Given the description of an element on the screen output the (x, y) to click on. 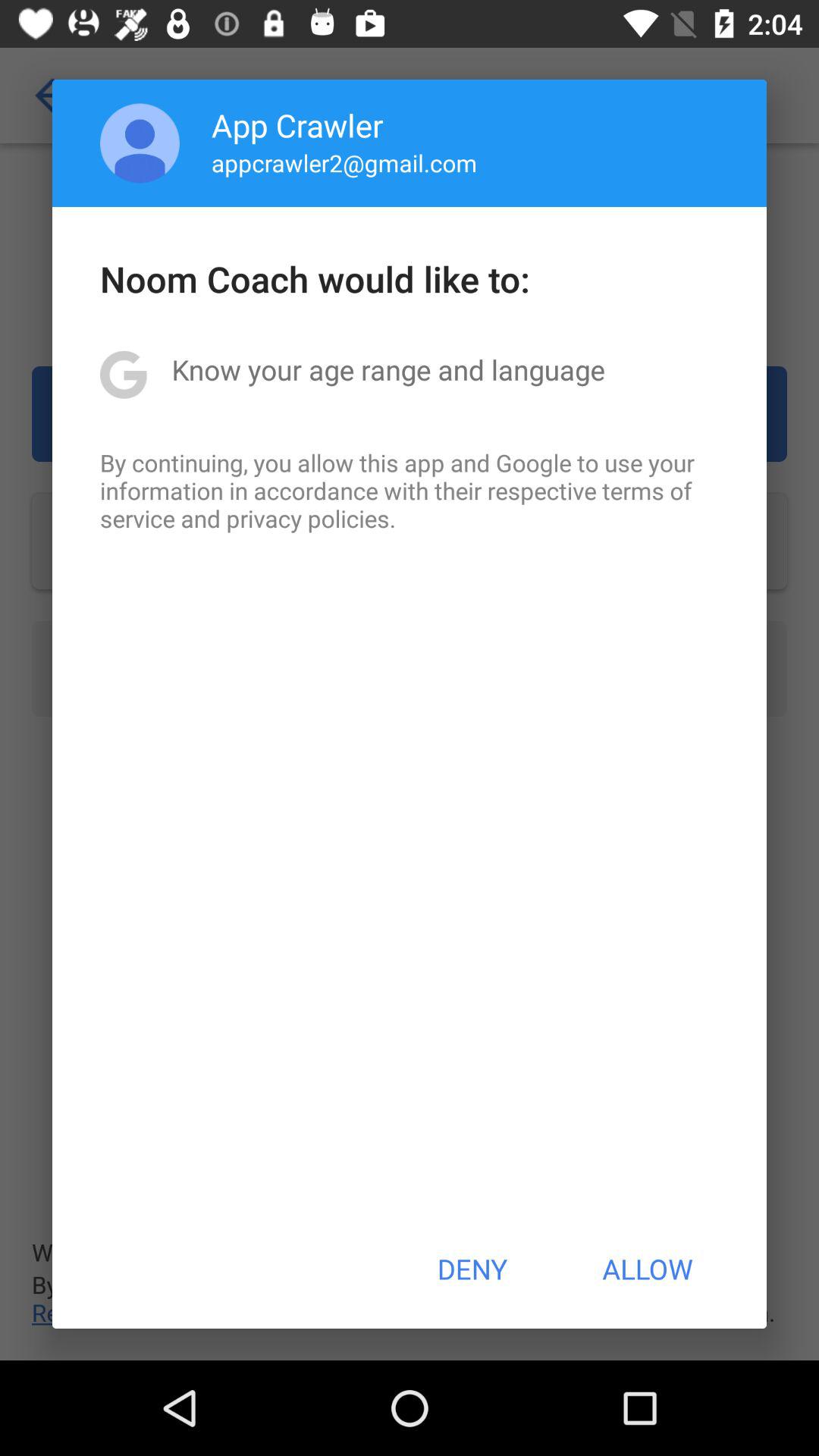
press the app above the noom coach would app (139, 143)
